Given the description of an element on the screen output the (x, y) to click on. 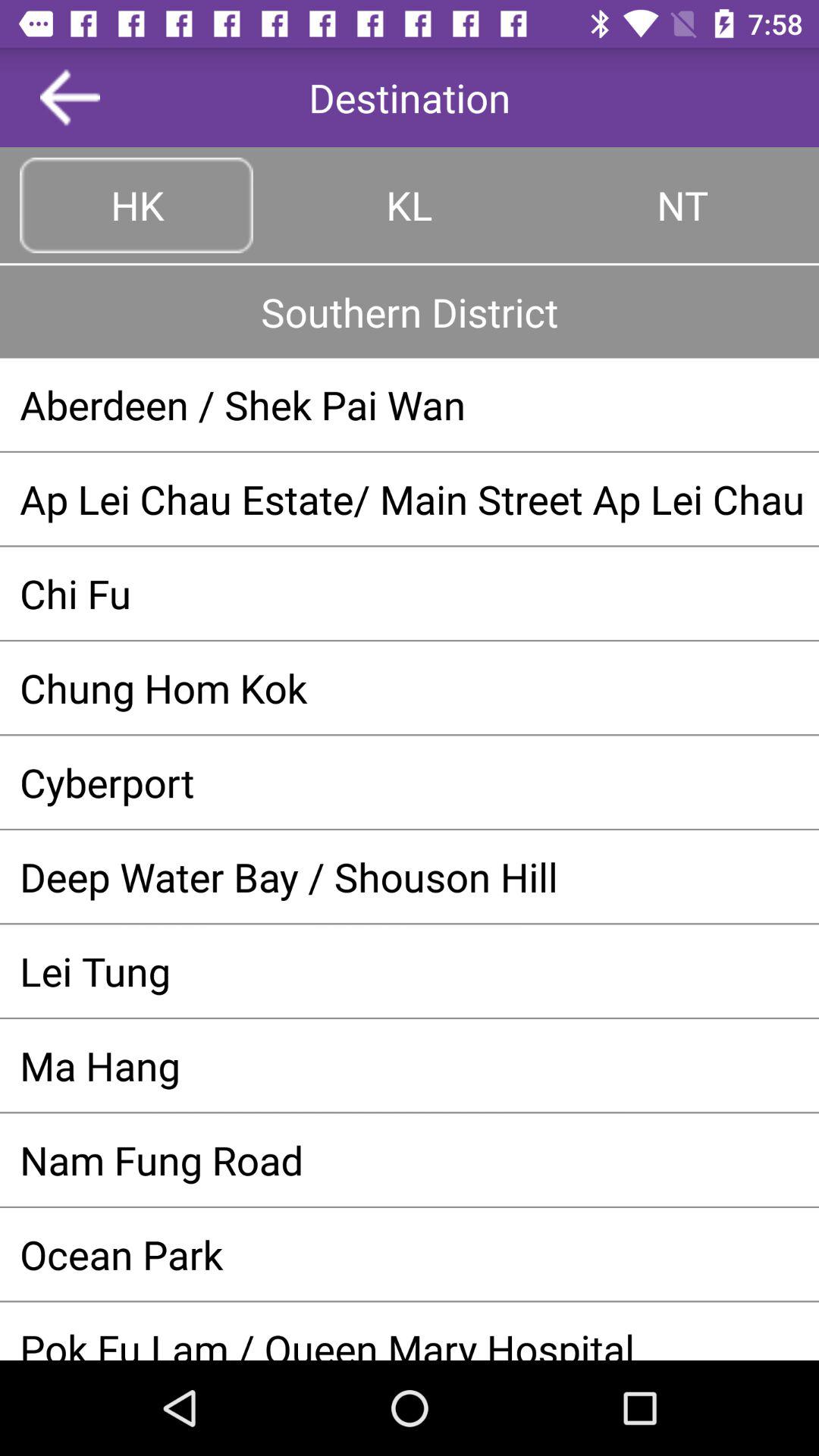
choose the button to the left of the kl (136, 205)
